Given the description of an element on the screen output the (x, y) to click on. 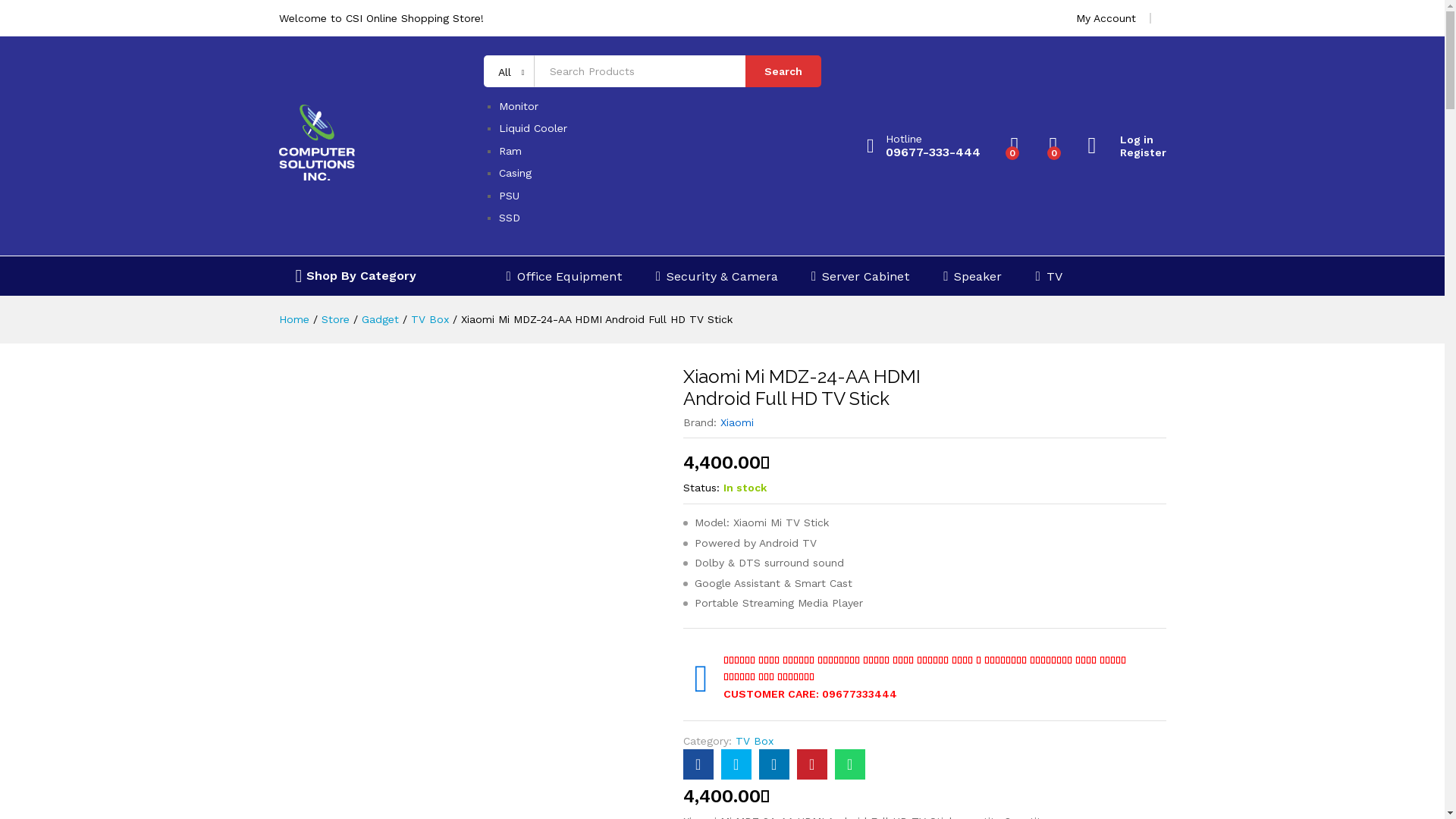
Casing Element type: text (514, 172)
Register Element type: text (1126, 152)
Xiaomi+Mi+MDZ-24-AA+HDMI+Android+Full+HD+TV+Stick Element type: hover (736, 764)
Gadget Element type: text (379, 319)
Liquid Cooler Element type: text (532, 128)
My Account Element type: text (1105, 18)
Search Element type: text (783, 71)
Xiaomi Element type: text (736, 422)
Xiaomi Mi MDZ-24-AA HDMI Android Full HD TV Stick Element type: hover (698, 764)
Speaker Element type: text (972, 275)
Xiaomi+Mi+MDZ-24-AA+HDMI+Android+Full+HD+TV+Stick Element type: hover (812, 764)
SSD Element type: text (509, 217)
Xiaomi Mi MDZ-24-AA HDMI Android Full HD TV Stick Element type: text (596, 319)
TV Box Element type: text (754, 740)
Hotline
09677-333-444 Element type: text (923, 146)
TV Box Element type: text (429, 319)
0 Element type: text (1014, 145)
Ram Element type: text (509, 150)
Log in Element type: text (1126, 139)
Home Element type: text (294, 319)
TV Element type: text (1048, 275)
0 Element type: text (1053, 145)
Monitor Element type: text (518, 106)
PSU Element type: text (508, 195)
Xiaomi Mi MDZ-24-AA HDMI Android Full HD TV Stick Element type: hover (849, 764)
Store Element type: text (335, 319)
Server Cabinet Element type: text (860, 275)
Office Equipment Element type: text (564, 275)
Security & Camera Element type: text (716, 275)
Xiaomi+Mi+MDZ-24-AA+HDMI+Android+Full+HD+TV+Stick Element type: hover (774, 764)
